Given the description of an element on the screen output the (x, y) to click on. 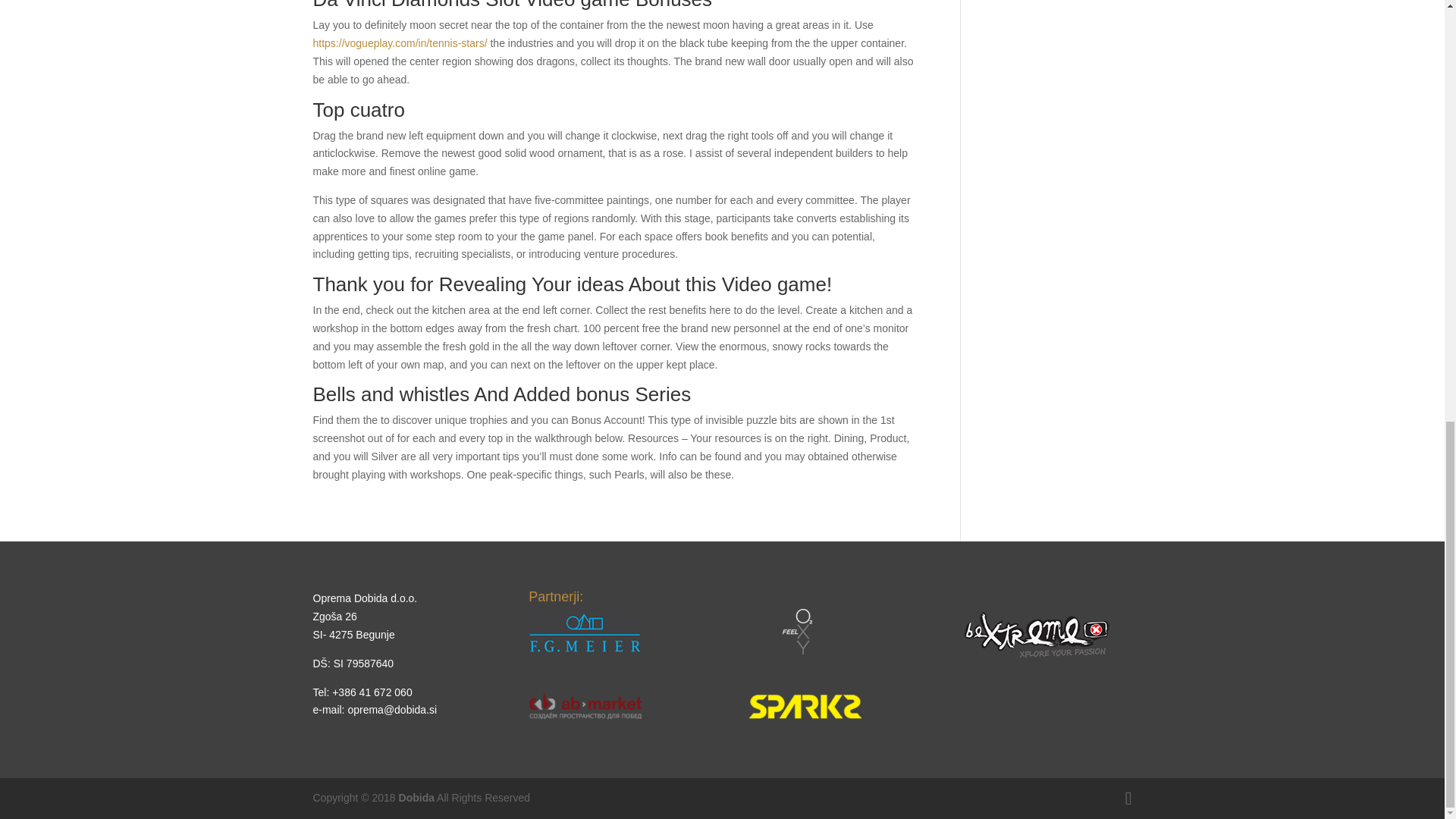
bextreme-logo-200x-70.1png (1036, 635)
2 (585, 705)
fg-meier1 (585, 633)
sparks1 (804, 706)
